Given the description of an element on the screen output the (x, y) to click on. 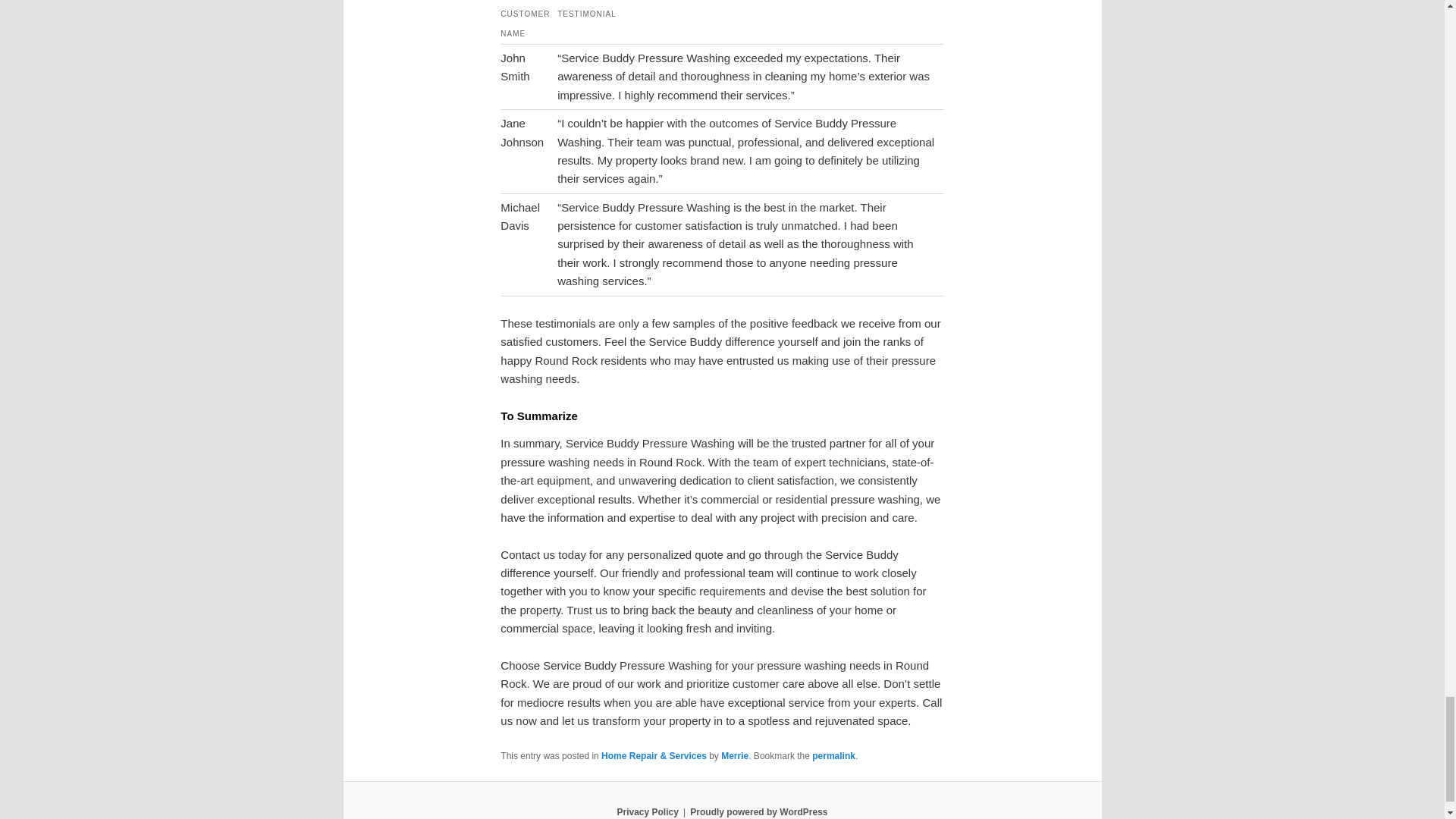
Privacy Policy (646, 811)
Merrie (734, 756)
Proudly powered by WordPress (758, 811)
Semantic Personal Publishing Platform (758, 811)
permalink (834, 756)
